Given the description of an element on the screen output the (x, y) to click on. 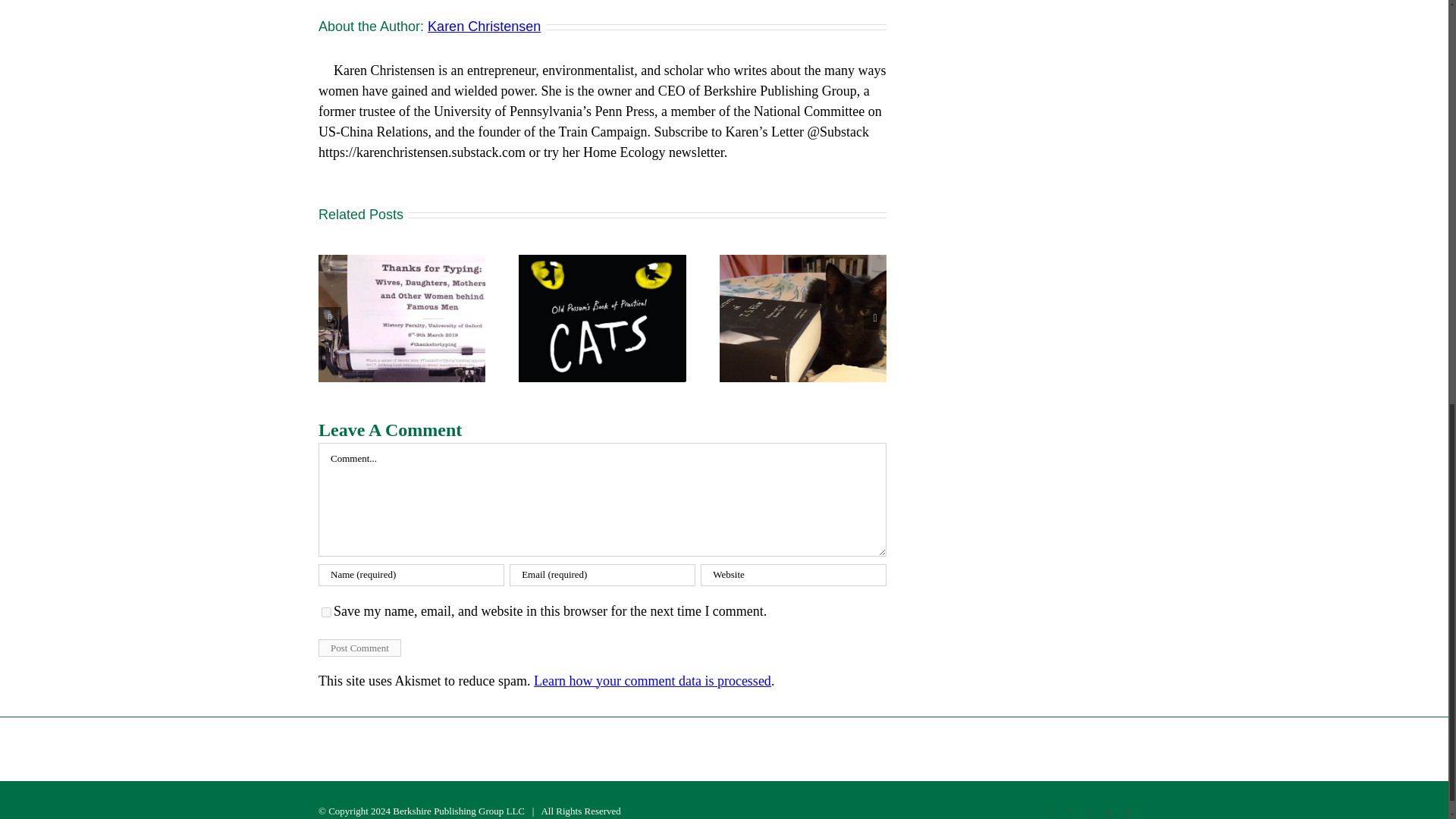
yes (326, 612)
Karen Christensen (484, 26)
Post Comment (359, 648)
Post Comment (359, 648)
Posts by Karen Christensen (484, 26)
